Given the description of an element on the screen output the (x, y) to click on. 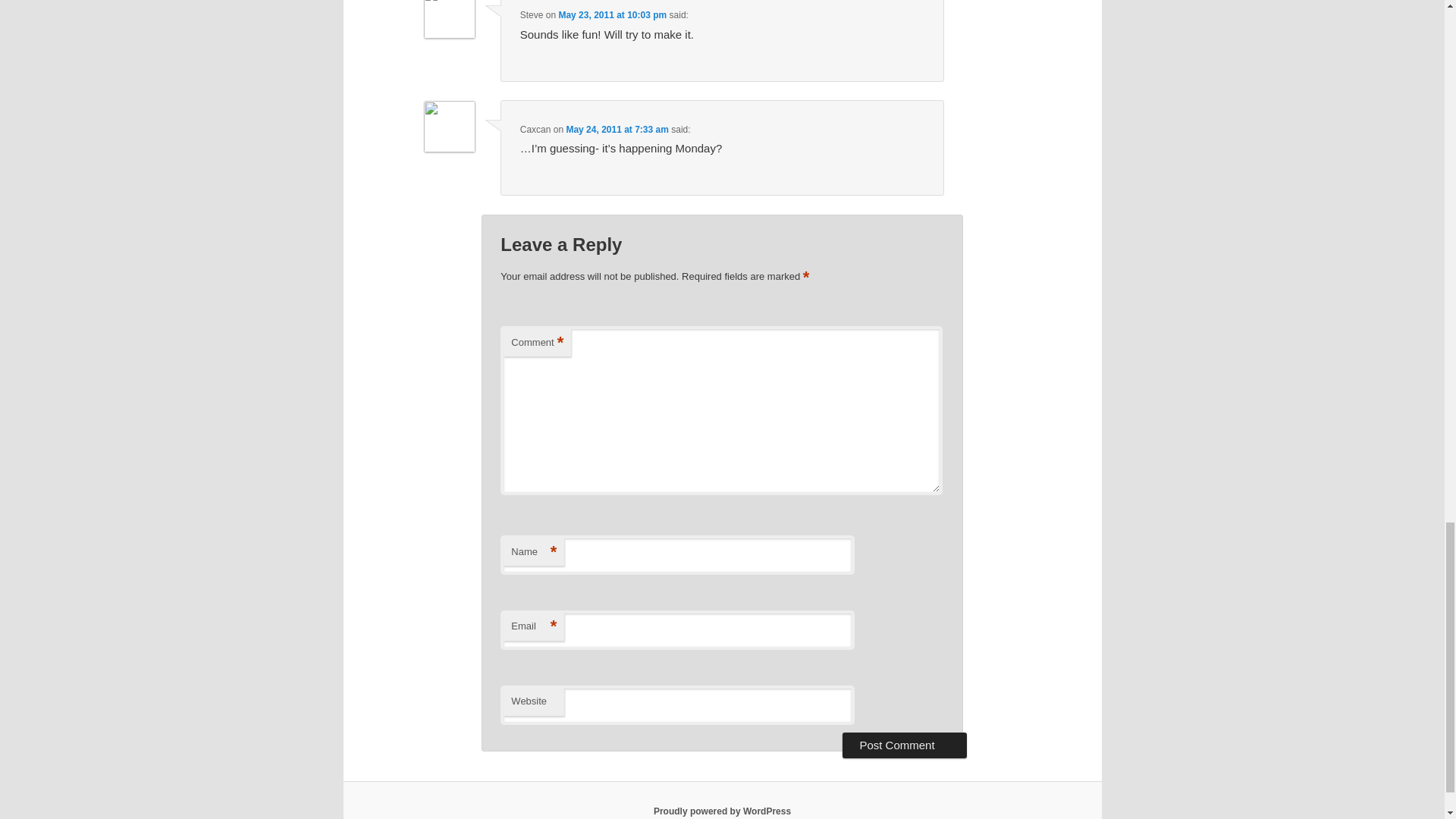
May 24, 2011 at 7:33 am (617, 129)
May 23, 2011 at 10:03 pm (611, 14)
Post Comment (904, 745)
Proudly powered by WordPress (721, 810)
Post Comment (904, 745)
Semantic Personal Publishing Platform (721, 810)
